Given the description of an element on the screen output the (x, y) to click on. 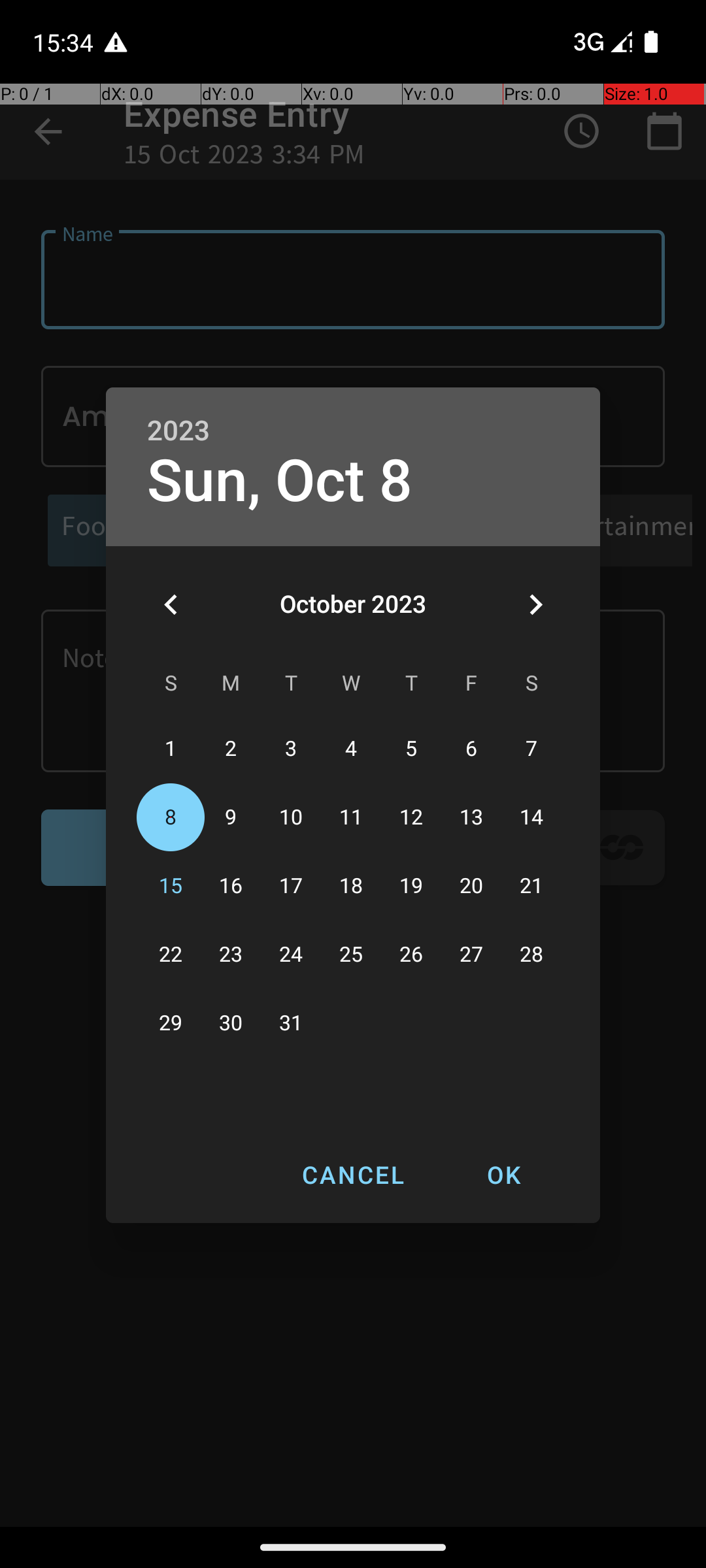
2023 Element type: android.widget.TextView (178, 430)
Sun, Oct 8 Element type: android.widget.TextView (279, 480)
Previous month Element type: android.widget.ImageButton (170, 604)
Next month Element type: android.widget.ImageButton (535, 604)
24 Element type: android.view.View (290, 954)
26 Element type: android.view.View (411, 954)
27 Element type: android.view.View (471, 954)
28 Element type: android.view.View (531, 954)
29 Element type: android.view.View (170, 1023)
31 Element type: android.view.View (290, 1023)
